Given the description of an element on the screen output the (x, y) to click on. 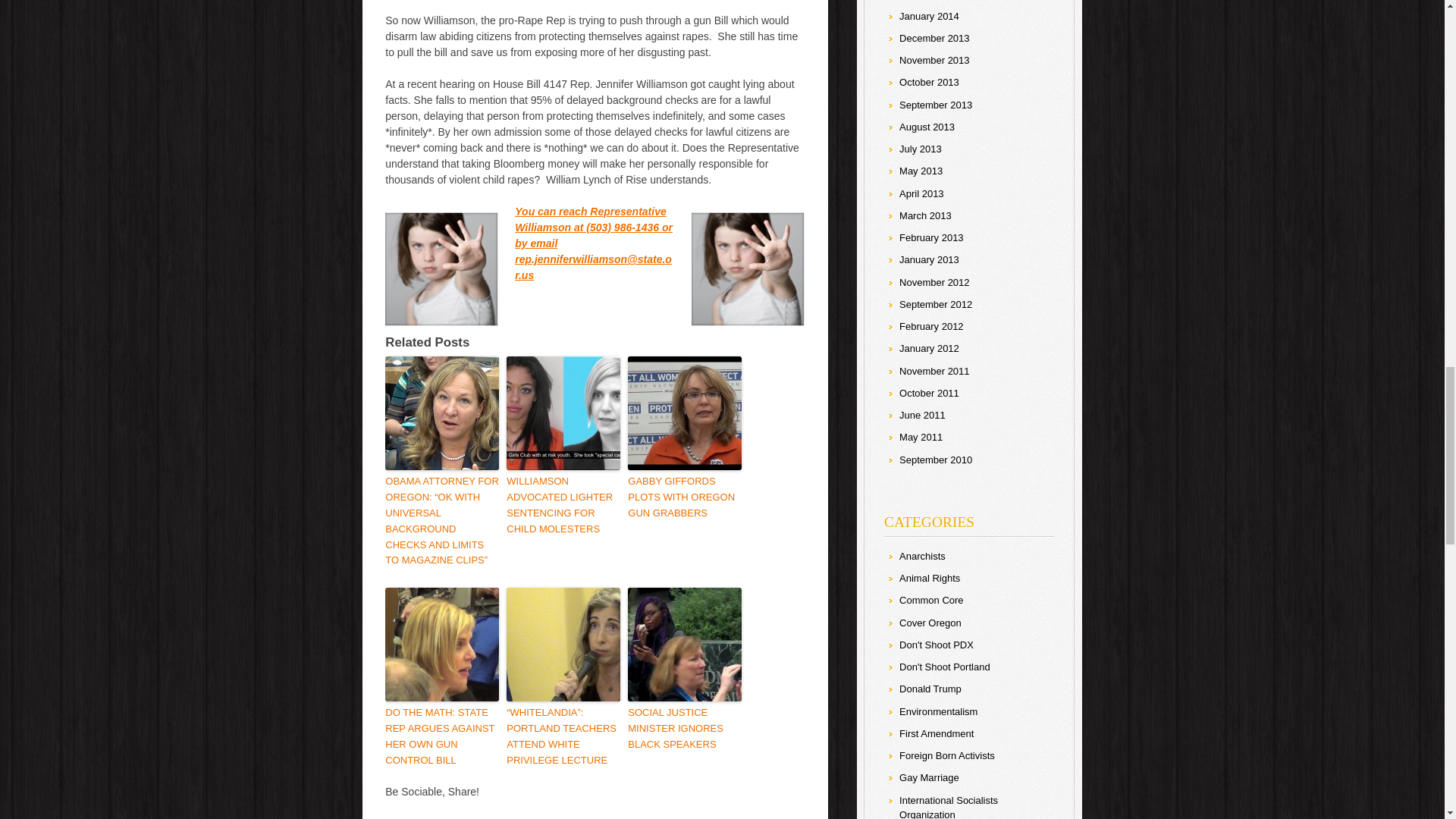
GABBY GIFFORDS PLOTS WITH OREGON GUN GRABBERS (684, 497)
WILLIAMSON ADVOCATED LIGHTER SENTENCING FOR CHILD MOLESTERS (563, 505)
SOCIAL JUSTICE MINISTER IGNORES BLACK SPEAKERS (684, 728)
